Given the description of an element on the screen output the (x, y) to click on. 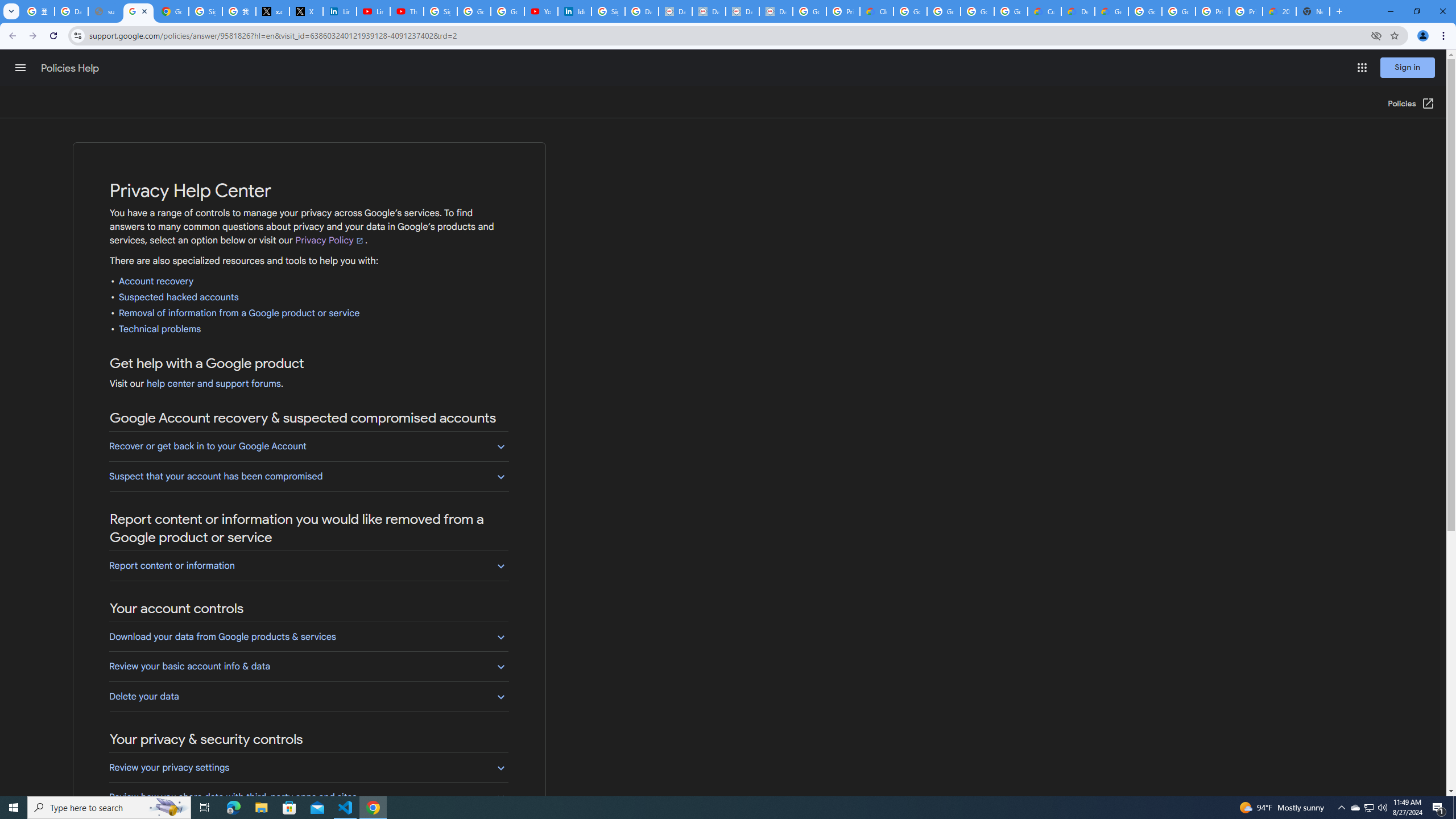
Review your privacy settings (308, 767)
Recover or get back in to your Google Account (308, 445)
Review your basic account info & data (308, 666)
Google Cloud Platform (1179, 11)
Data Privacy Framework (775, 11)
Removal of information from a Google product or service (239, 313)
